Given the description of an element on the screen output the (x, y) to click on. 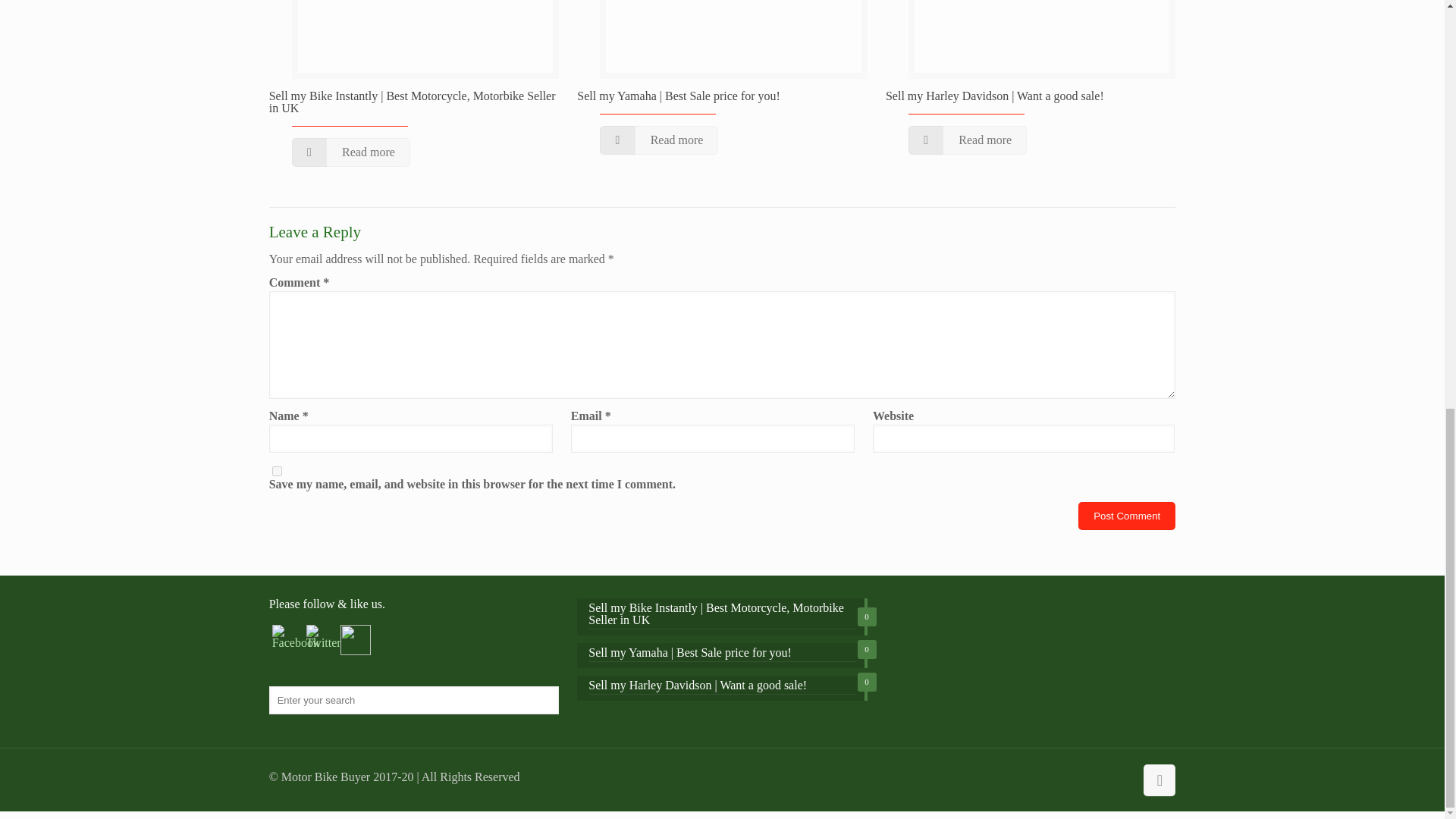
Twitter (322, 636)
Read more (351, 152)
Post Comment (1126, 515)
Read more (658, 140)
Facebook (295, 636)
Read more (967, 140)
Post Comment (1126, 515)
yes (277, 470)
